Given the description of an element on the screen output the (x, y) to click on. 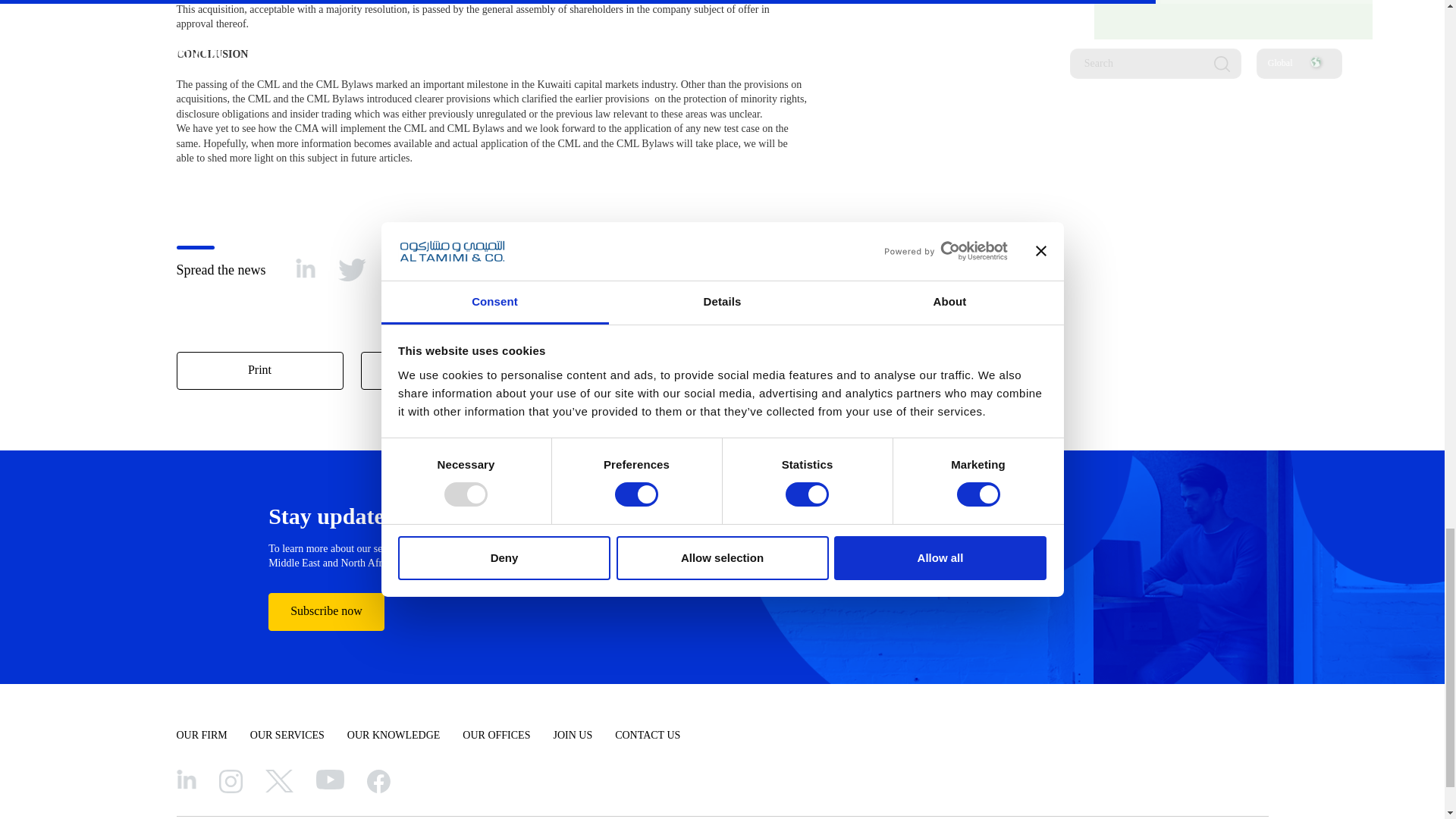
Shape (446, 269)
Group 3 Copy Created with Sketch. (351, 269)
Fill 1 (329, 779)
